Given the description of an element on the screen output the (x, y) to click on. 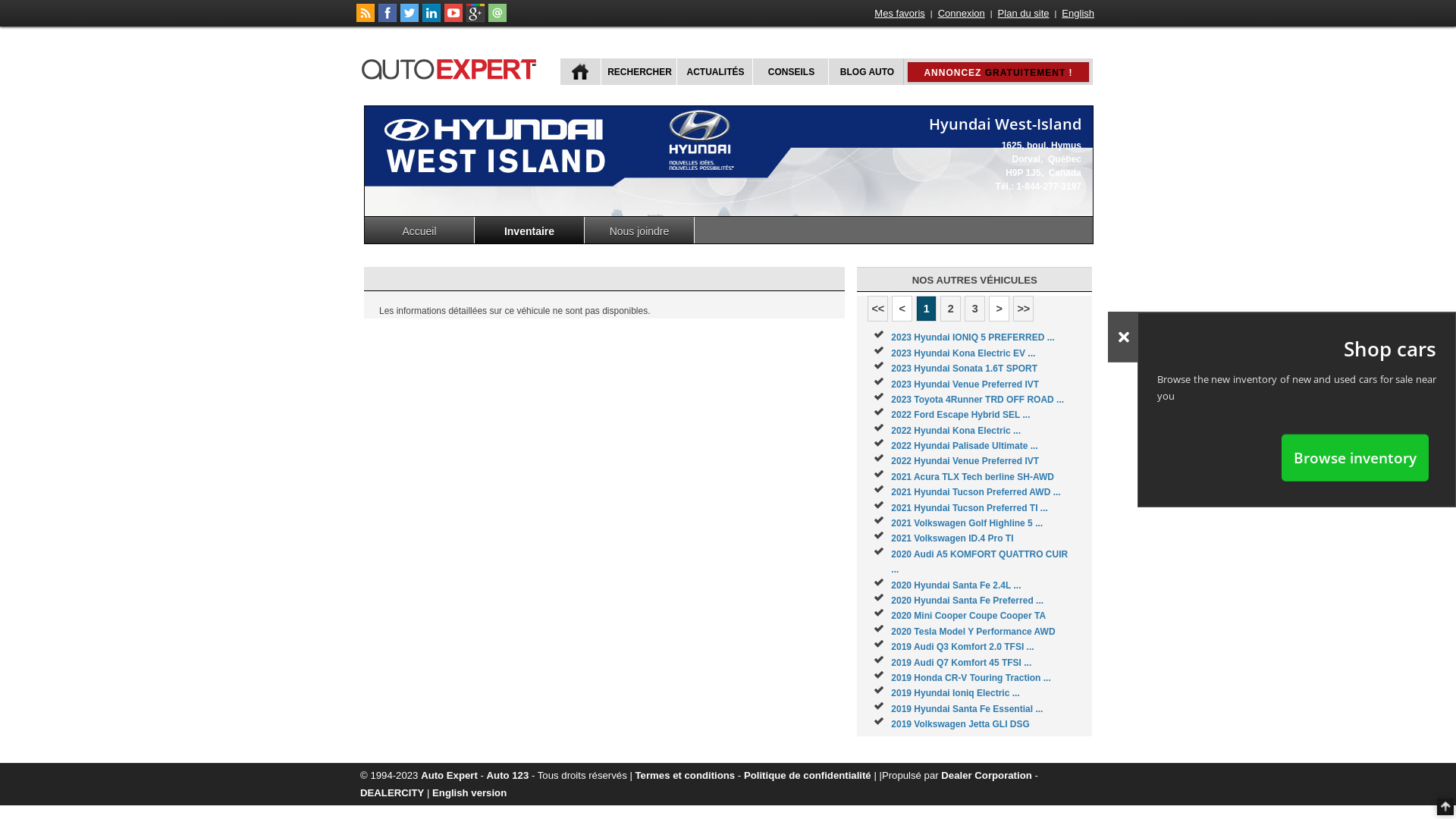
3 Element type: text (974, 308)
Plan du site Element type: text (1023, 13)
Accueil Element type: text (419, 229)
Auto Expert Element type: text (448, 775)
Suivez autoExpert.ca sur Youtube Element type: hover (453, 18)
2021 Hyundai Tucson Preferred TI ... Element type: text (969, 507)
Suivez autoExpert.ca sur Facebook Element type: hover (387, 18)
2023 Hyundai Sonata 1.6T SPORT Element type: text (964, 368)
Suivez autoExpert.ca sur Twitter Element type: hover (409, 18)
Termes et conditions Element type: text (685, 775)
Suivez Publications Le Guide Inc. sur LinkedIn Element type: hover (431, 18)
2019 Audi Q3 Komfort 2.0 TFSI ... Element type: text (962, 646)
2021 Acura TLX Tech berline SH-AWD Element type: text (972, 476)
2023 Hyundai IONIQ 5 PREFERRED ... Element type: text (972, 337)
2019 Honda CR-V Touring Traction ... Element type: text (970, 677)
< Element type: text (901, 308)
2021 Volkswagen Golf Highline 5 ... Element type: text (966, 522)
1 Element type: text (926, 308)
2020 Mini Cooper Coupe Cooper TA Element type: text (968, 615)
RECHERCHER Element type: text (637, 71)
2022 Ford Escape Hybrid SEL ... Element type: text (960, 414)
2 Element type: text (950, 308)
2019 Hyundai Ioniq Electric ... Element type: text (955, 692)
Browse inventory Element type: text (1354, 457)
2019 Hyundai Santa Fe Essential ... Element type: text (966, 708)
Joindre autoExpert.ca Element type: hover (497, 18)
2023 Toyota 4Runner TRD OFF ROAD ... Element type: text (977, 399)
DEALERCITY Element type: text (391, 792)
>> Element type: text (1023, 308)
<< Element type: text (877, 308)
2019 Volkswagen Jetta GLI DSG Element type: text (960, 723)
Dealer Corporation Element type: text (986, 775)
2022 Hyundai Kona Electric ... Element type: text (955, 430)
CONSEILS Element type: text (789, 71)
2020 Audi A5 KOMFORT QUATTRO CUIR ... Element type: text (979, 561)
ACCUEIL Element type: text (580, 71)
Mes favoris Element type: text (898, 13)
2021 Hyundai Tucson Preferred AWD ... Element type: text (975, 491)
2020 Hyundai Santa Fe 2.4L ... Element type: text (955, 585)
2019 Audi Q7 Komfort 45 TFSI ... Element type: text (961, 662)
BLOG AUTO Element type: text (865, 71)
English Element type: text (1077, 13)
Suivez autoExpert.ca sur Google Plus Element type: hover (475, 18)
2021 Volkswagen ID.4 Pro TI Element type: text (952, 538)
2022 Hyundai Venue Preferred IVT Element type: text (964, 460)
Nous joindre Element type: text (639, 229)
2022 Hyundai Palisade Ultimate ... Element type: text (964, 445)
> Element type: text (998, 308)
2023 Hyundai Venue Preferred IVT Element type: text (964, 384)
2023 Hyundai Kona Electric EV ... Element type: text (963, 353)
2020 Tesla Model Y Performance AWD Element type: text (972, 631)
ANNONCEZ GRATUITEMENT ! Element type: text (997, 71)
2020 Hyundai Santa Fe Preferred ... Element type: text (967, 600)
Inventaire Element type: text (529, 229)
autoExpert.ca Element type: text (451, 66)
Auto 123 Element type: text (507, 775)
Connexion Element type: text (961, 13)
English version Element type: text (469, 792)
